Given the description of an element on the screen output the (x, y) to click on. 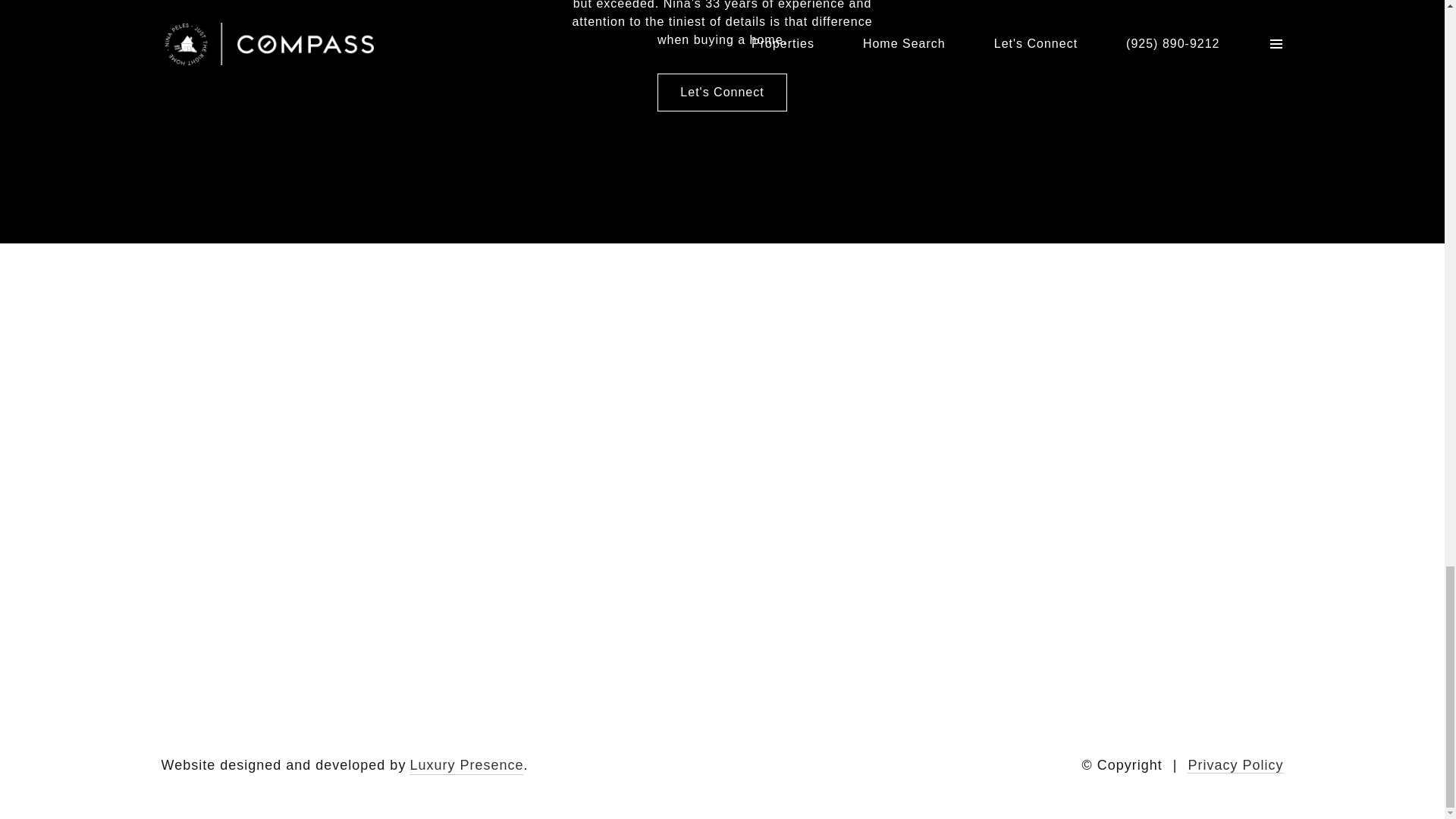
Let'S Connect (722, 92)
